Given the description of an element on the screen output the (x, y) to click on. 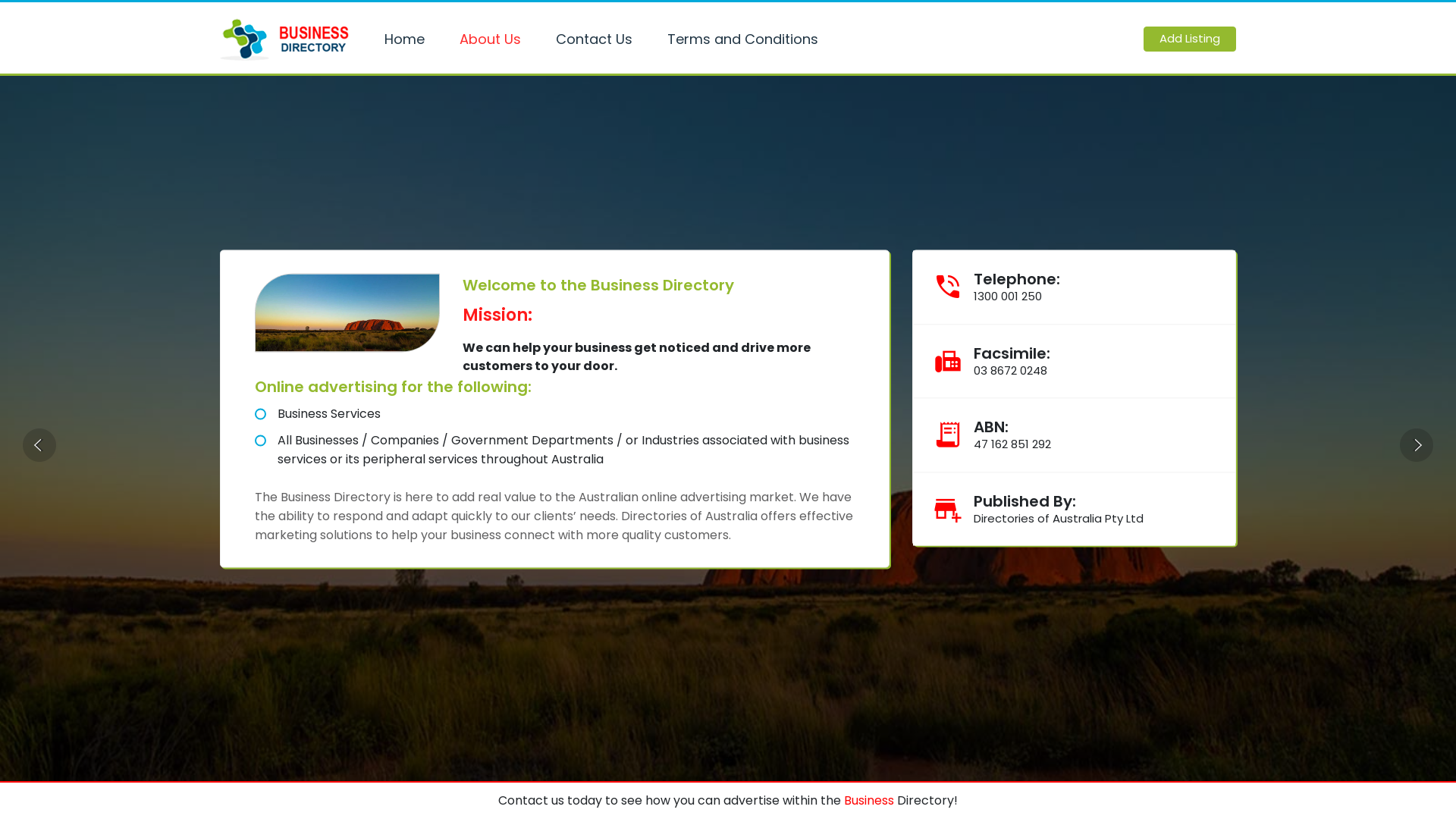
Contact Us Element type: text (596, 38)
Previous Element type: text (39, 444)
Home Element type: text (406, 38)
Add Listing Element type: text (1189, 38)
Terms and Conditions Element type: text (744, 38)
About Us Element type: text (492, 38)
Next Element type: text (1416, 444)
Business Element type: text (869, 800)
